Given the description of an element on the screen output the (x, y) to click on. 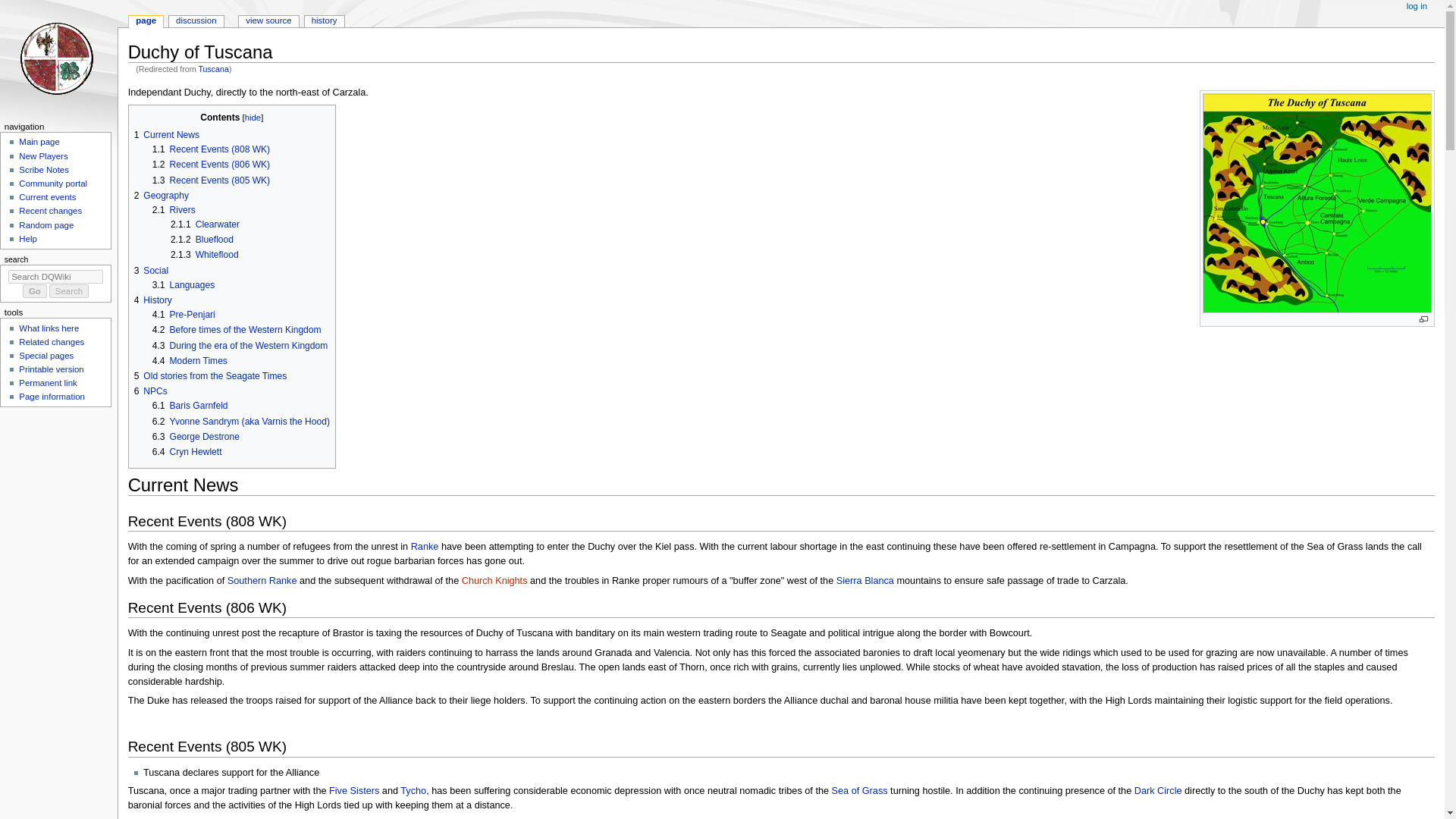
Ranke (424, 546)
Southern Ranke (262, 580)
6.1 Baris Garnfeld (190, 405)
1 Current News (166, 134)
Sierra Blanca (864, 580)
4.1 Pre-Penjari (183, 314)
Ranke (424, 546)
Search (68, 291)
Tuscana (213, 68)
Sierra Blanca (864, 580)
5 Old stories from the Seagate Times (209, 376)
Go (34, 291)
Tycho (413, 790)
Search (68, 291)
